Given the description of an element on the screen output the (x, y) to click on. 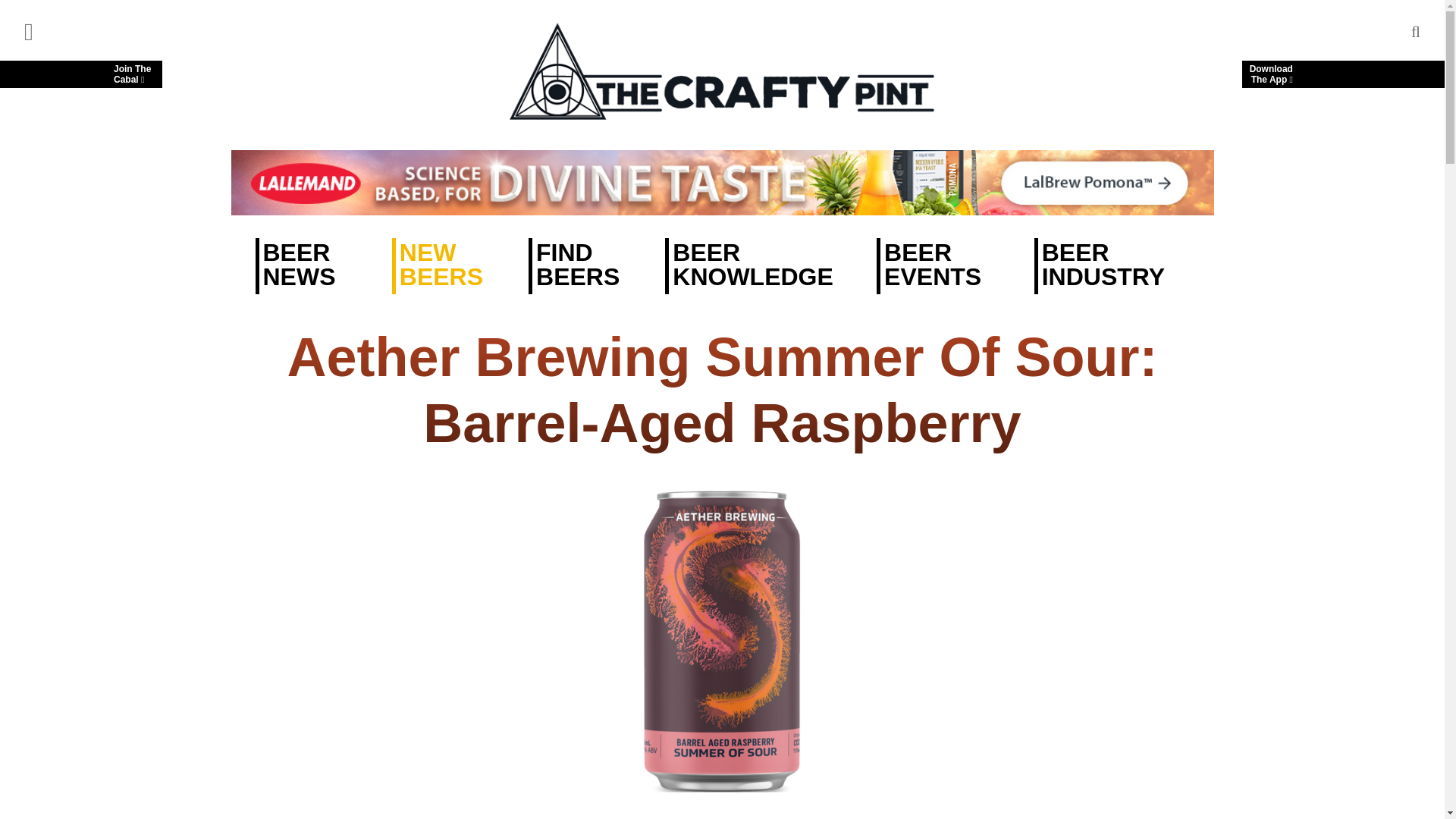
Lallemand Pomona A (80, 73)
